Given the description of an element on the screen output the (x, y) to click on. 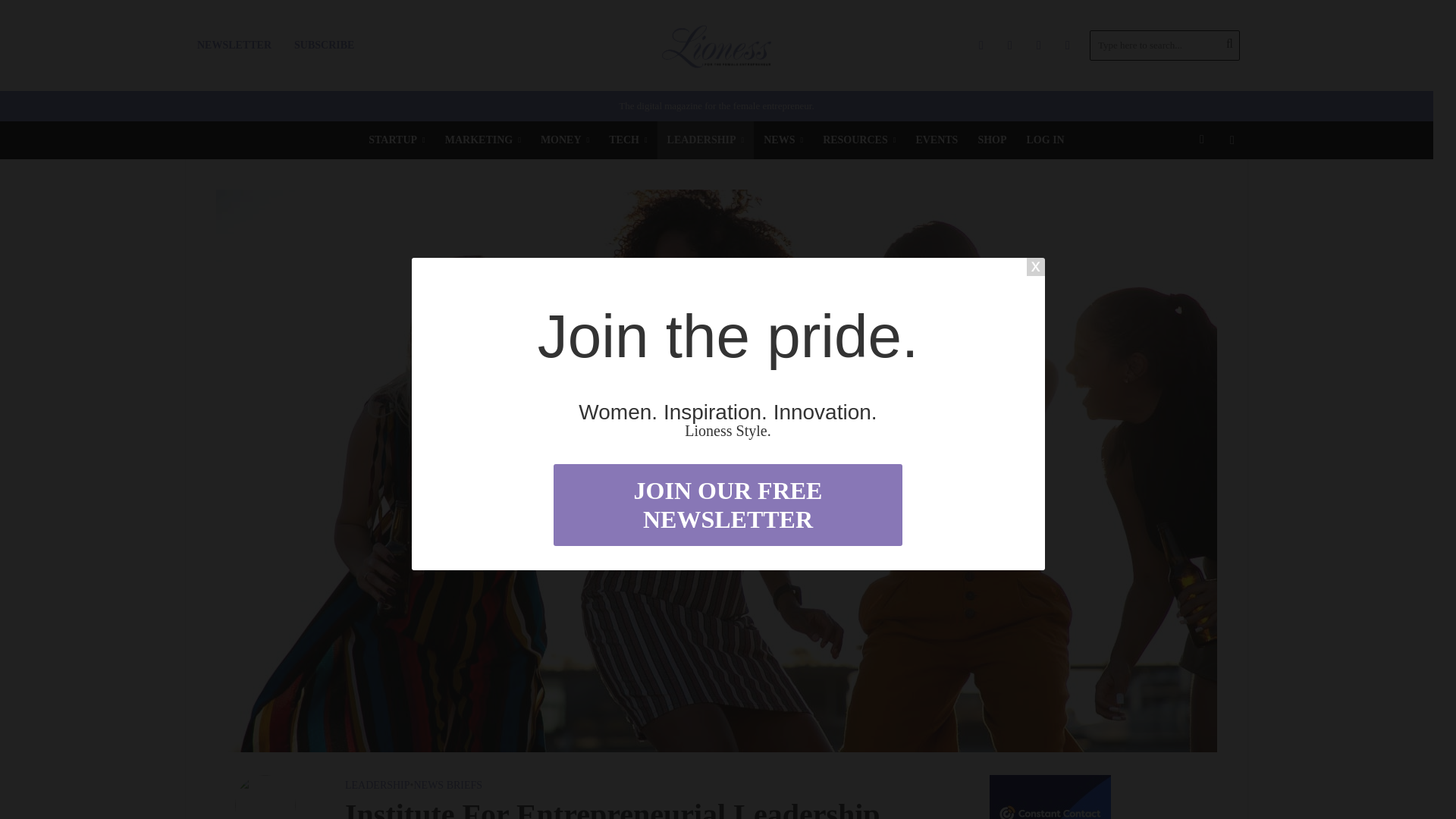
NEWSLETTER (234, 45)
SHOP (992, 139)
TECH (627, 139)
LEADERSHIP (706, 139)
NEWS (783, 139)
MARKETING (483, 139)
MONEY (564, 139)
LOG IN (1045, 139)
SUBSCRIBE (323, 45)
RESOURCES (858, 139)
EVENTS (936, 139)
STARTUP (395, 139)
